Given the description of an element on the screen output the (x, y) to click on. 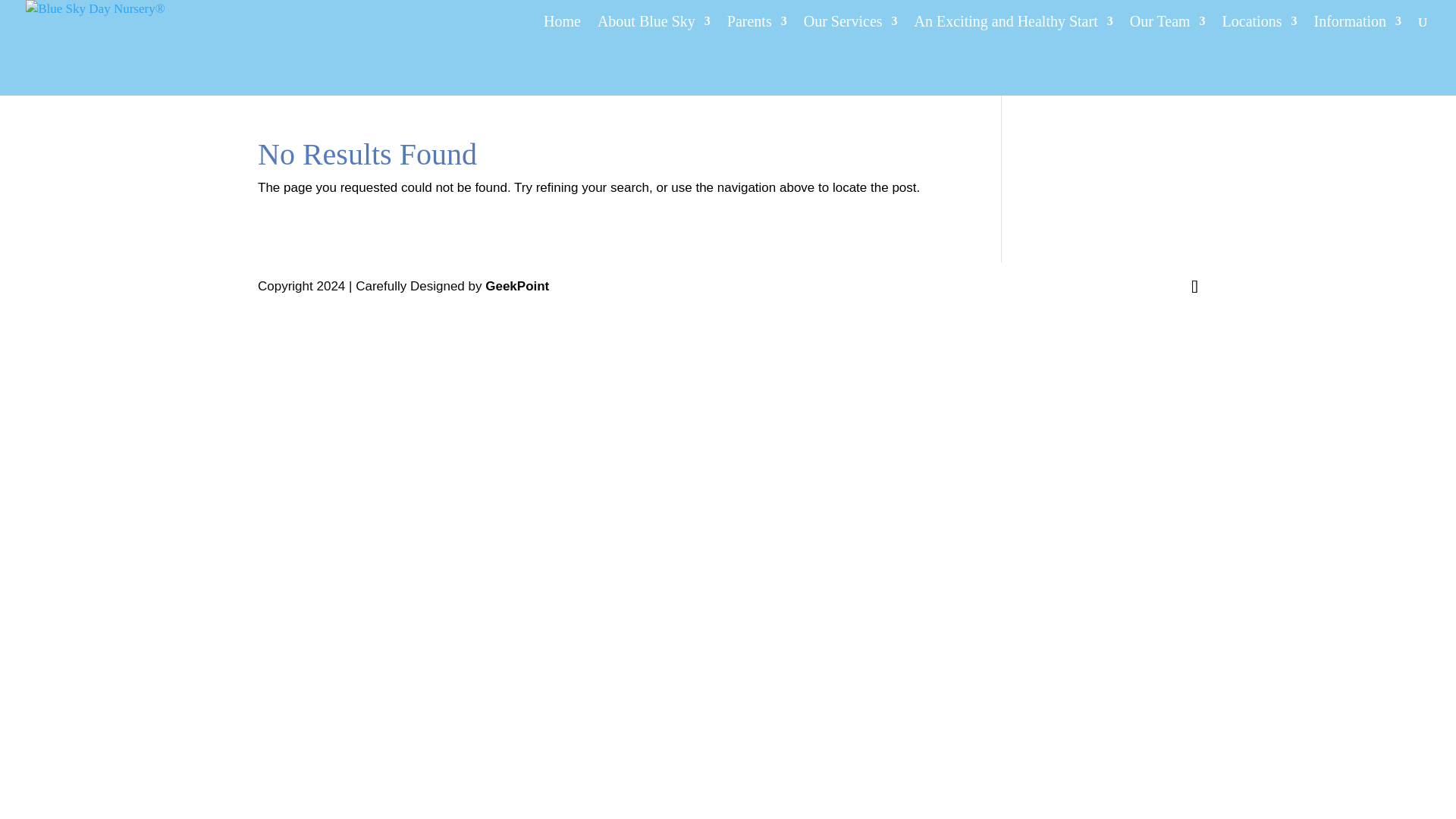
Information (1356, 28)
GeekPoint (516, 286)
Our Team (1167, 28)
Home (561, 28)
An Exciting and Healthy Start (1013, 28)
About Blue Sky (653, 28)
Parents (756, 28)
Our Services (850, 28)
GeekPoint (516, 286)
Locations (1260, 28)
